Given the description of an element on the screen output the (x, y) to click on. 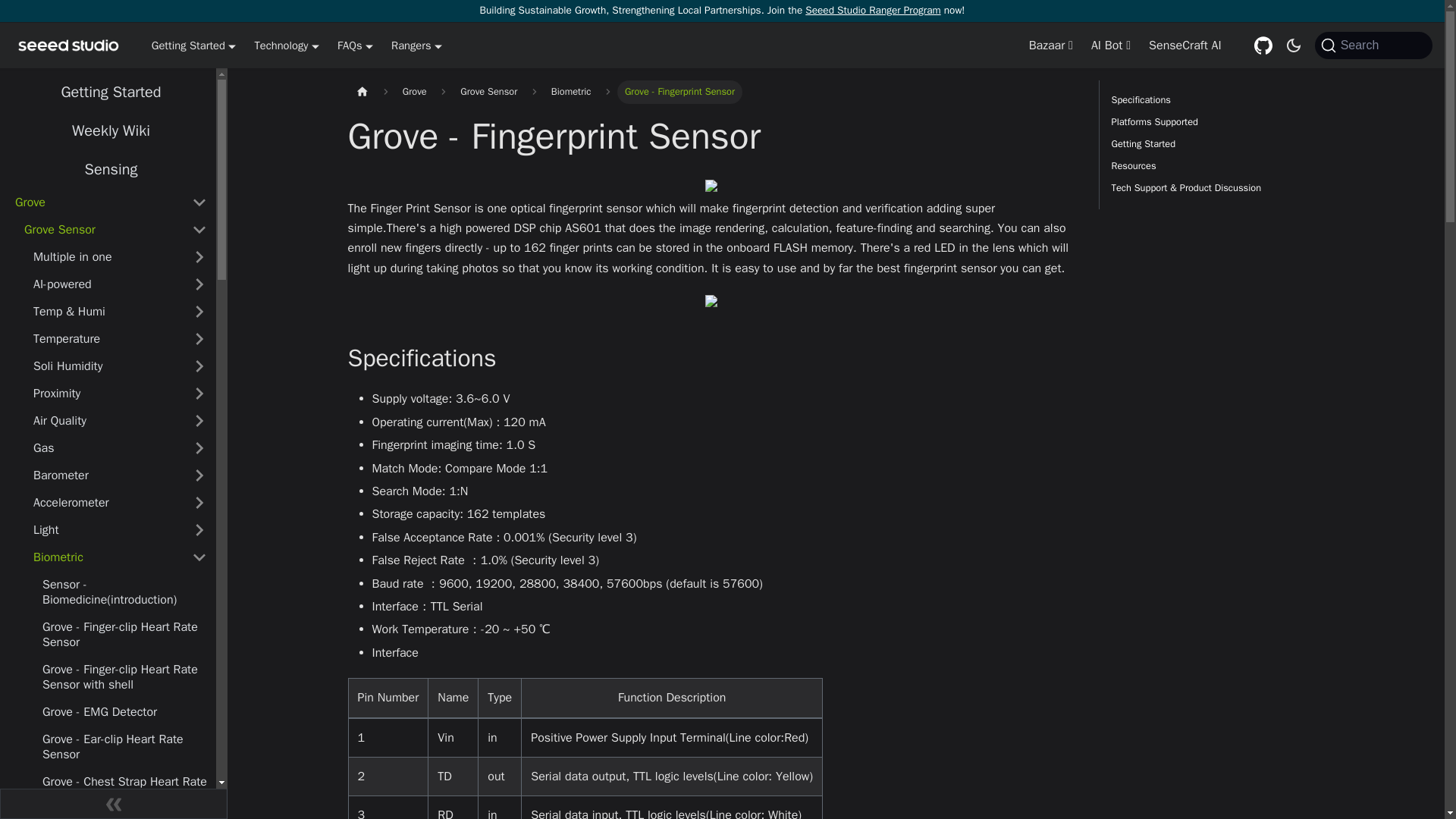
SenseCraft AI (1185, 45)
Getting Started (110, 91)
Collapse sidebar (113, 803)
Technology (285, 45)
FAQs (354, 45)
Seeed Studio Ranger Program (872, 10)
Rangers (416, 45)
Getting Started (193, 45)
Search (1373, 44)
